Given the description of an element on the screen output the (x, y) to click on. 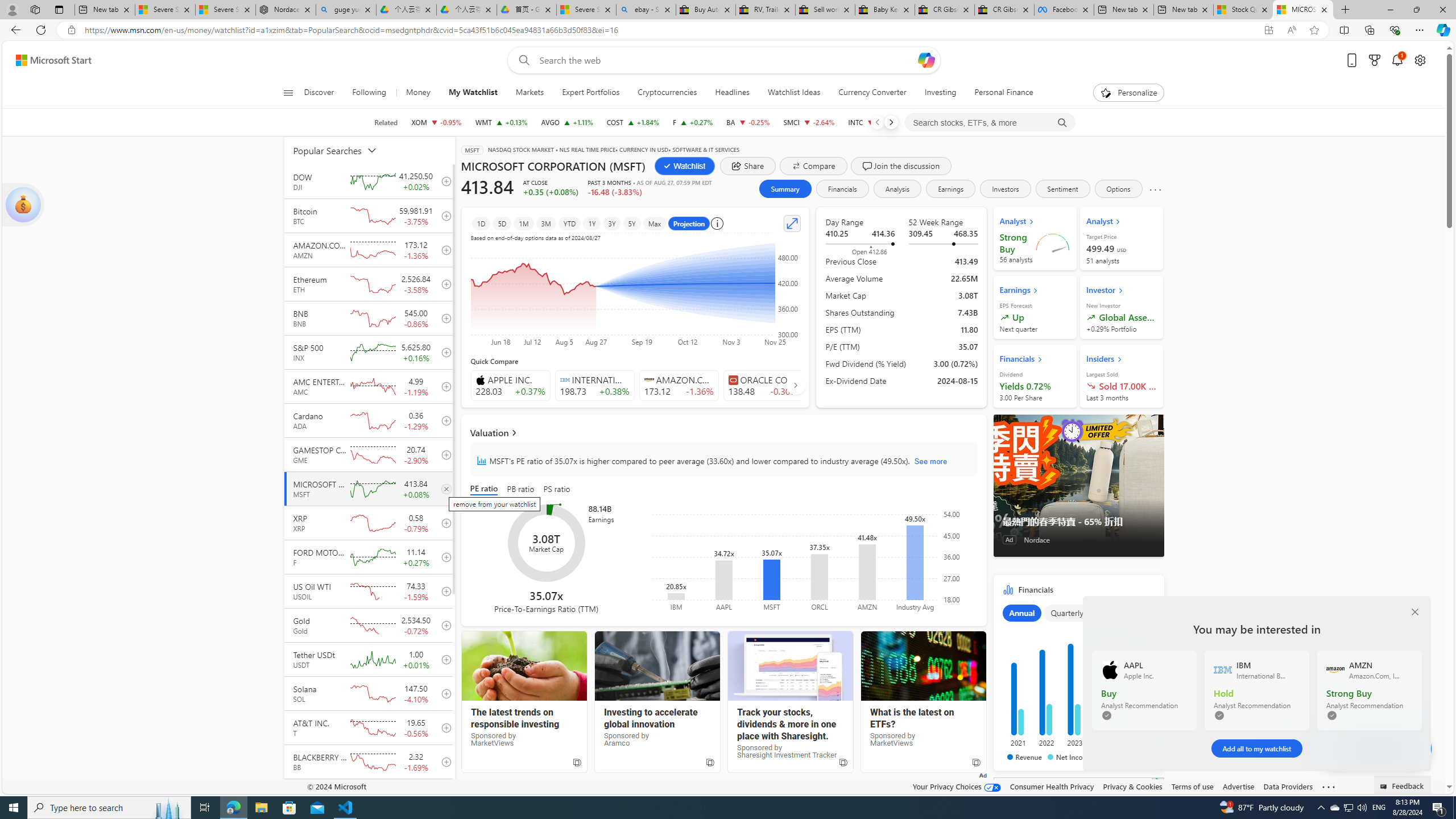
show card (22, 204)
Headlines (732, 92)
Annual (1021, 612)
WMT WALMART INC. increase 76.13 +0.10 +0.13% (500, 122)
Popular Searches (341, 150)
Class: qc-adchoices-icon (1158, 782)
Class: chartSvg (1075, 680)
Personal Finance (1003, 92)
Your Privacy Choices (956, 786)
